Given the description of an element on the screen output the (x, y) to click on. 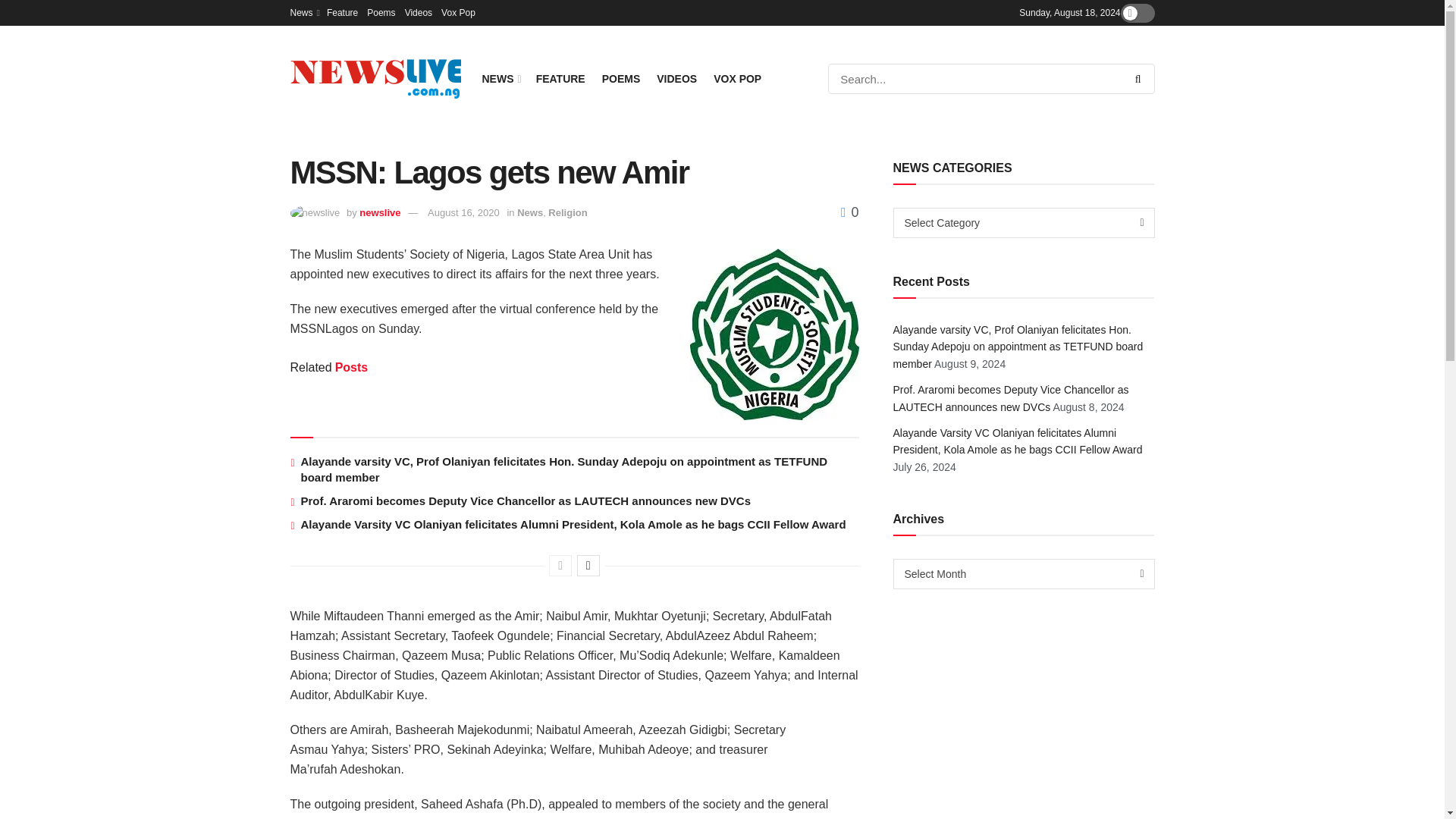
Next (587, 565)
NEWS (500, 78)
Vox Pop (458, 12)
Feature (342, 12)
Previous (560, 565)
VIDEOS (676, 78)
Poems (380, 12)
POEMS (621, 78)
FEATURE (560, 78)
Videos (418, 12)
